Given the description of an element on the screen output the (x, y) to click on. 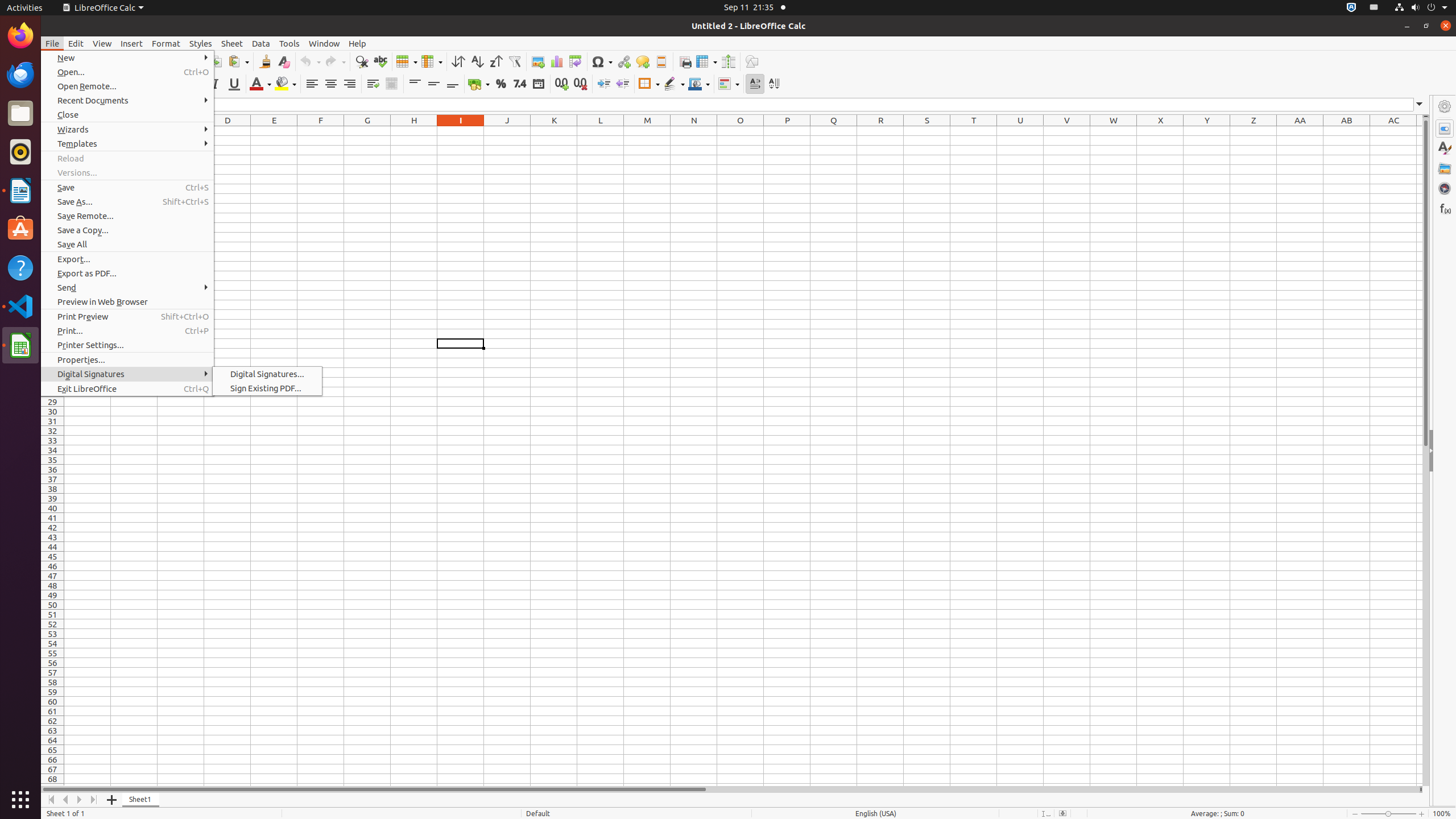
M1 Element type: table-cell (646, 130)
R1 Element type: table-cell (880, 130)
Tools Element type: menu (289, 43)
Chart Element type: push-button (556, 61)
Clone Element type: push-button (264, 61)
